Given the description of an element on the screen output the (x, y) to click on. 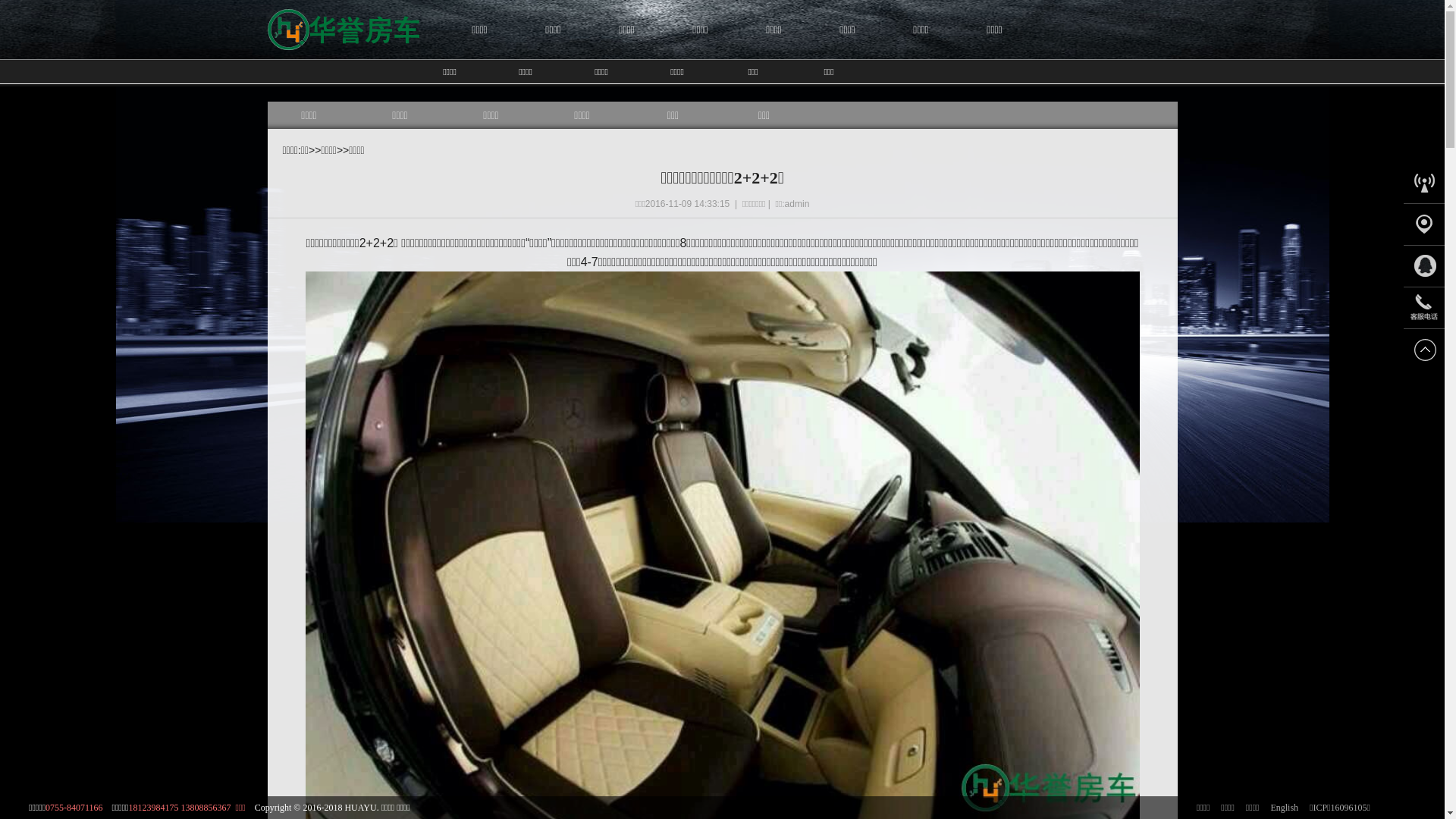
English Element type: text (1284, 807)
  Element type: text (343, 71)
